Given the description of an element on the screen output the (x, y) to click on. 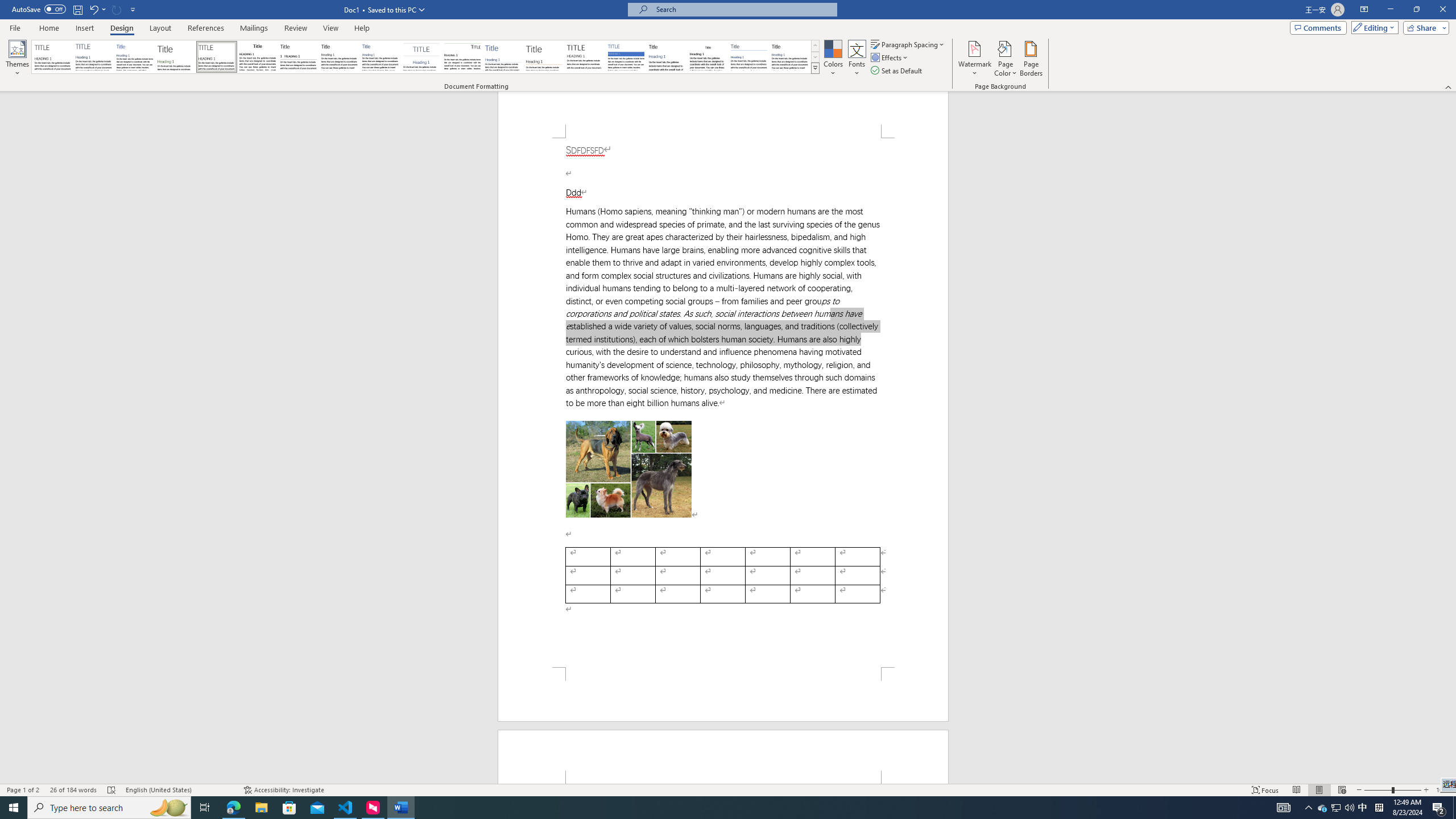
Basic (Stylish) (175, 56)
Black & White (Capitalized) (216, 56)
Themes (17, 58)
Black & White (Classic) (257, 56)
Zoom 100% (1443, 790)
Centered (421, 56)
Lines (Distinctive) (462, 56)
Word 2003 (707, 56)
